Given the description of an element on the screen output the (x, y) to click on. 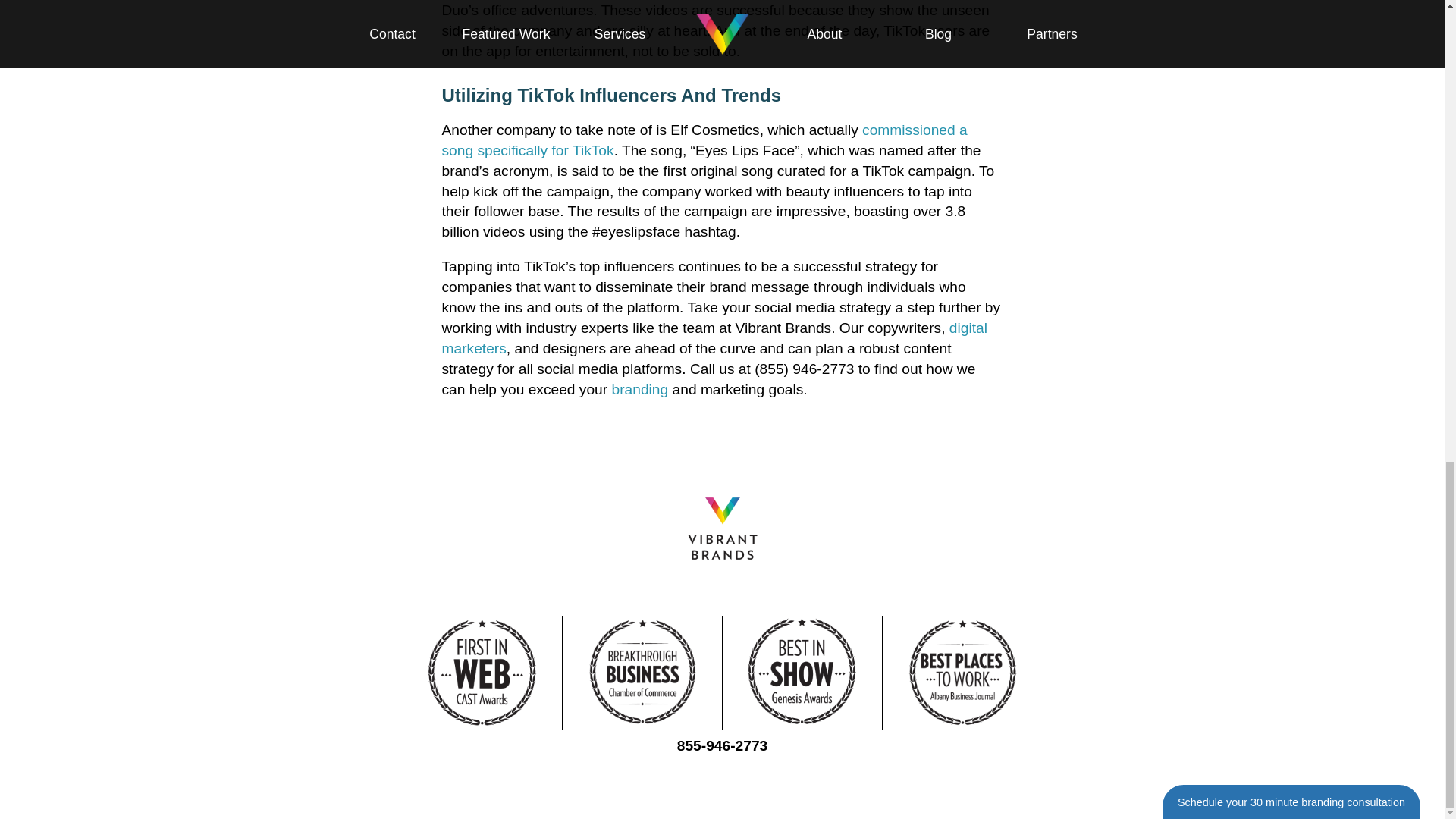
branding (639, 389)
855-946-2773 (722, 745)
commissioned a song specifically for TikTok (703, 140)
digital marketers (714, 338)
